Given the description of an element on the screen output the (x, y) to click on. 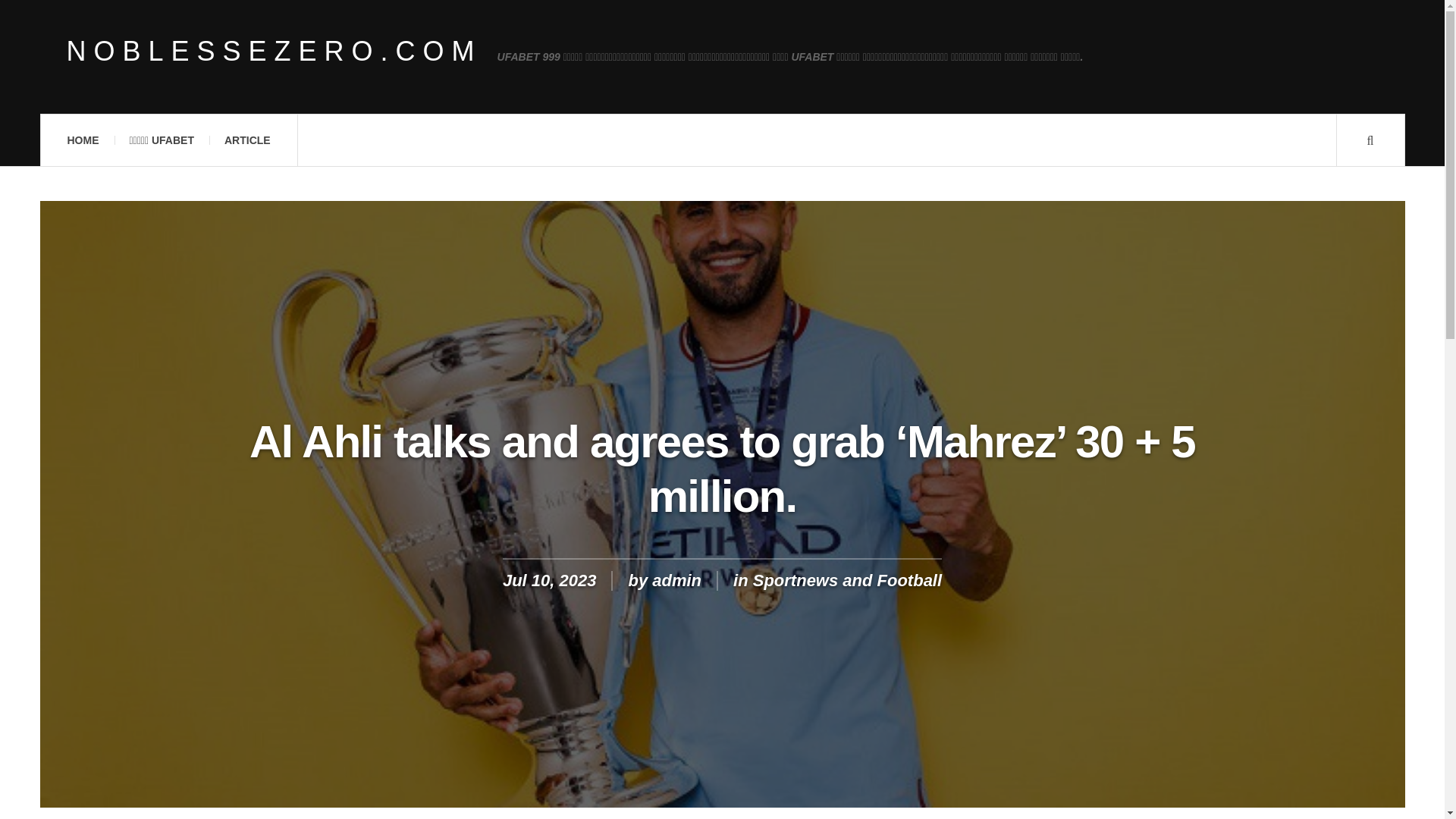
NOBLESSEZERO.COM (273, 51)
admin (676, 579)
View all posts in Sportnews and Football (847, 579)
ARTICLE (247, 140)
Sportnews and Football (847, 579)
HOME (81, 140)
noblessezero.com (273, 51)
